Given the description of an element on the screen output the (x, y) to click on. 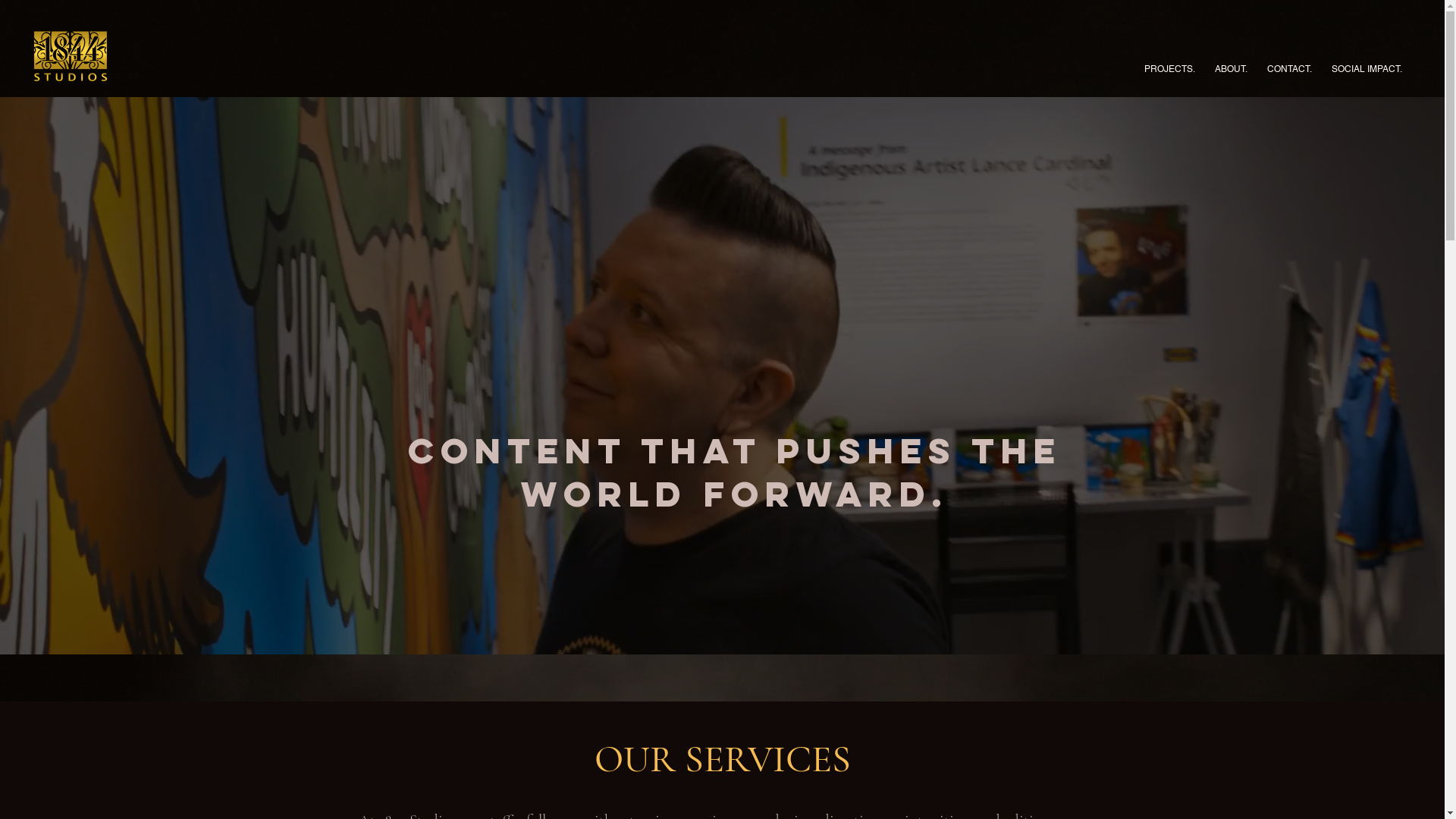
SOCIAL IMPACT. Element type: text (1366, 62)
PROJECTS. Element type: text (1169, 62)
CONTACT. Element type: text (1289, 62)
ABOUT. Element type: text (1230, 62)
